Given the description of an element on the screen output the (x, y) to click on. 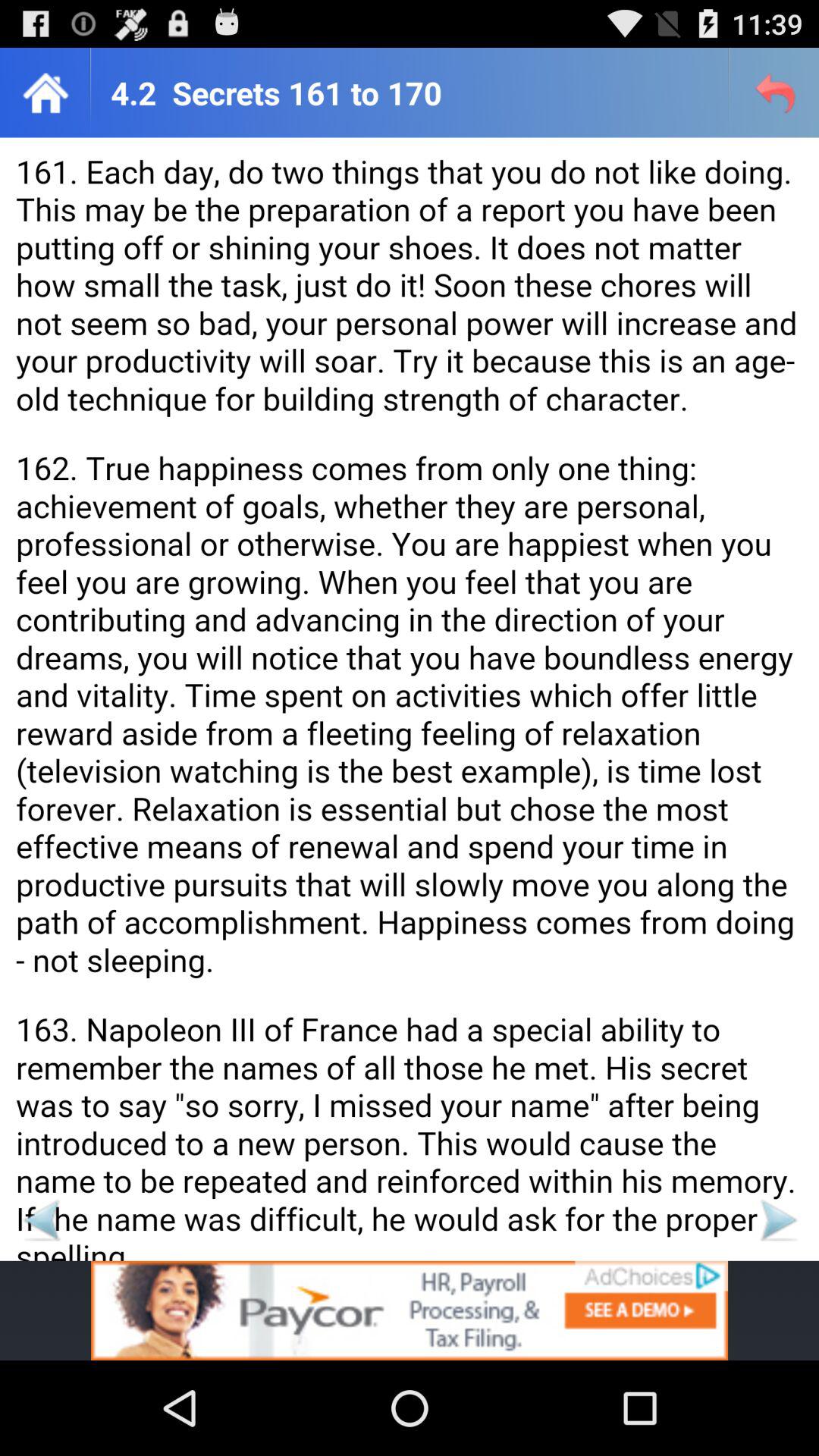
advertisement (41, 1219)
